Given the description of an element on the screen output the (x, y) to click on. 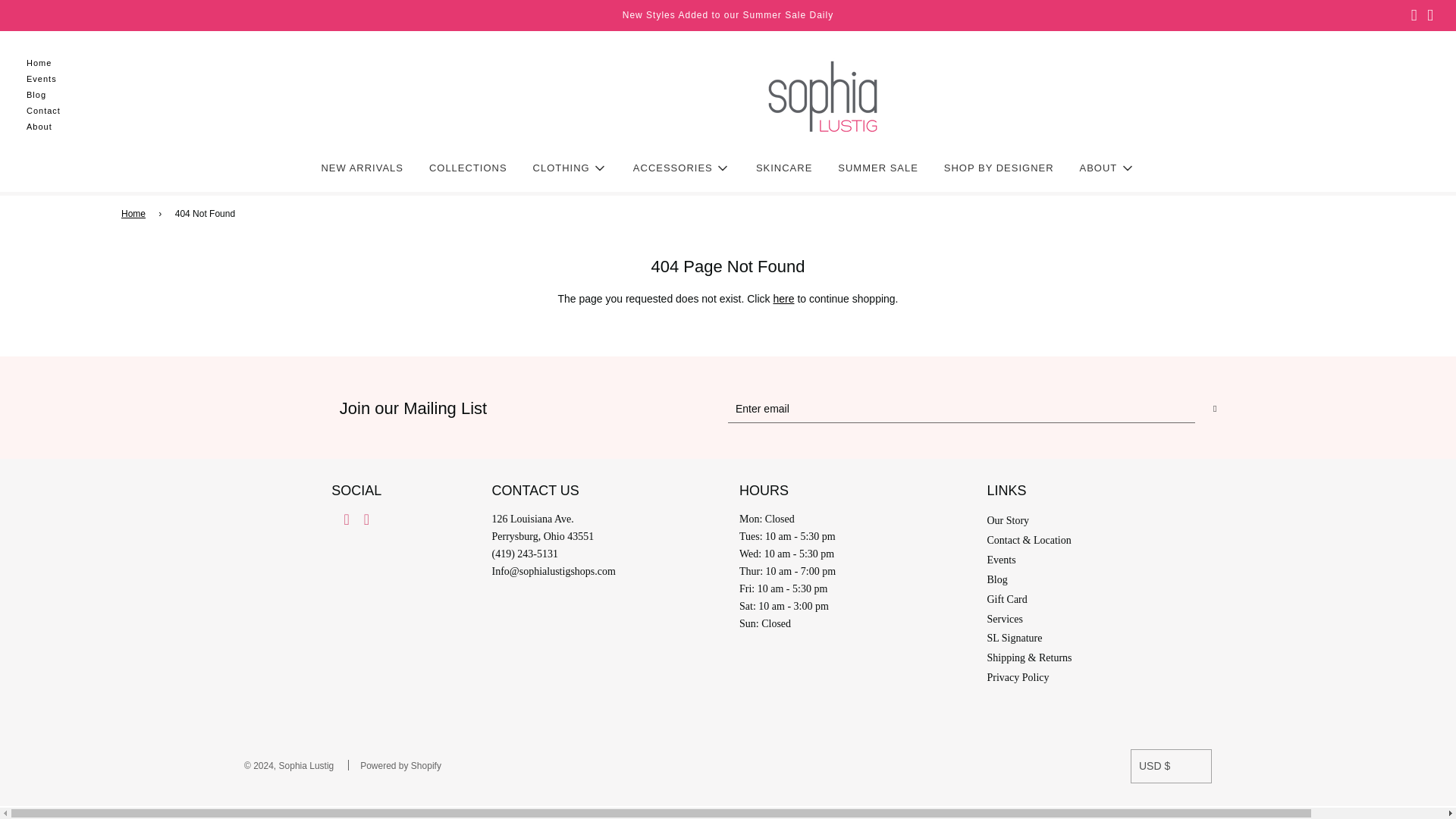
New Styles Added to our Summer Sale Daily (727, 15)
Back to the frontpage (135, 214)
Join our Mailing List (727, 408)
